Given the description of an element on the screen output the (x, y) to click on. 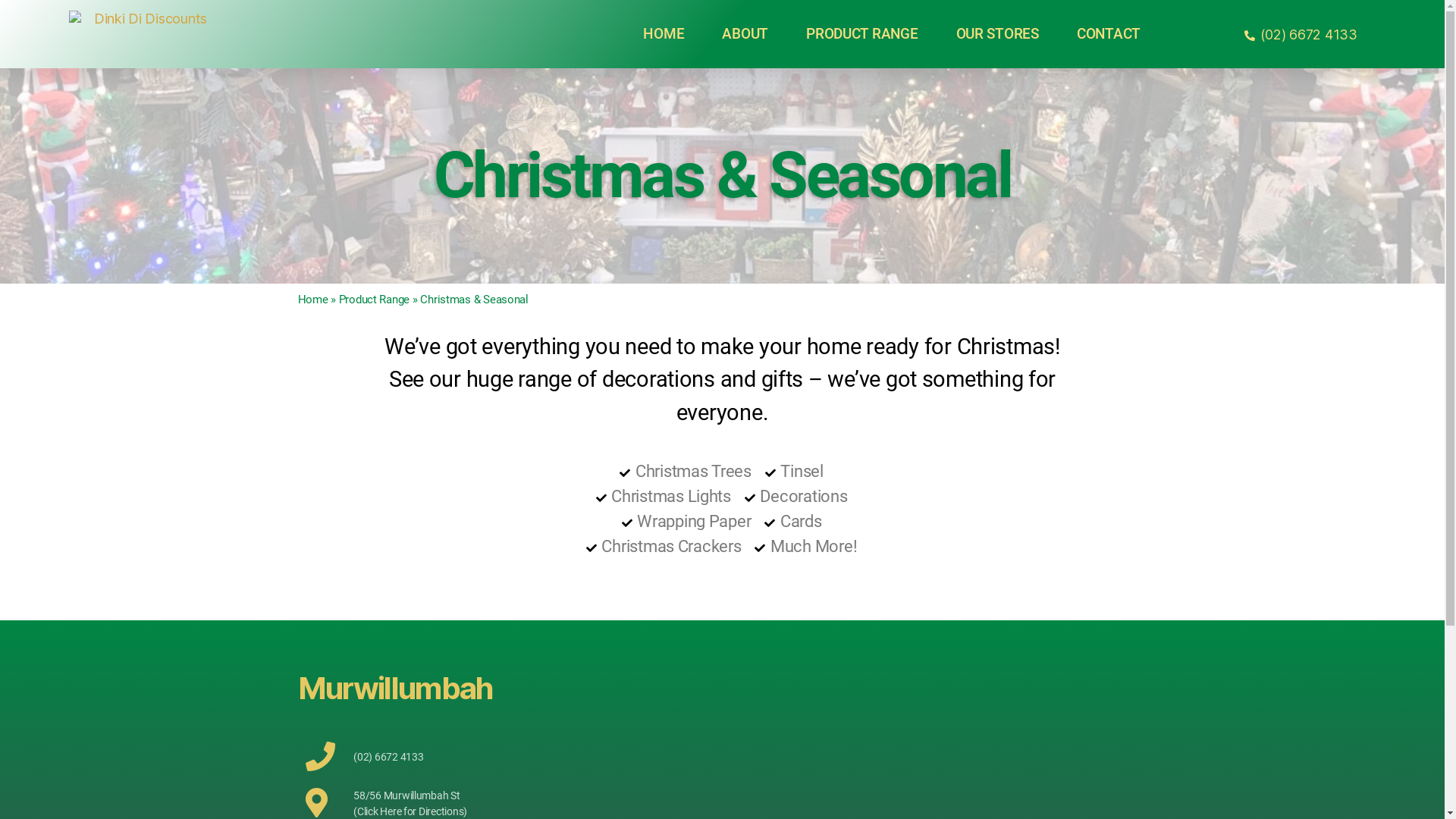
HOME Element type: text (663, 34)
Home Element type: text (312, 299)
(02) 6672 4133 Element type: text (509, 756)
PRODUCT RANGE Element type: text (862, 34)
OUR STORES Element type: text (997, 34)
(02) 6672 4133 Element type: text (1300, 34)
CONTACT Element type: text (1108, 34)
ABOUT Element type: text (744, 34)
Product Range Element type: text (374, 299)
